Given the description of an element on the screen output the (x, y) to click on. 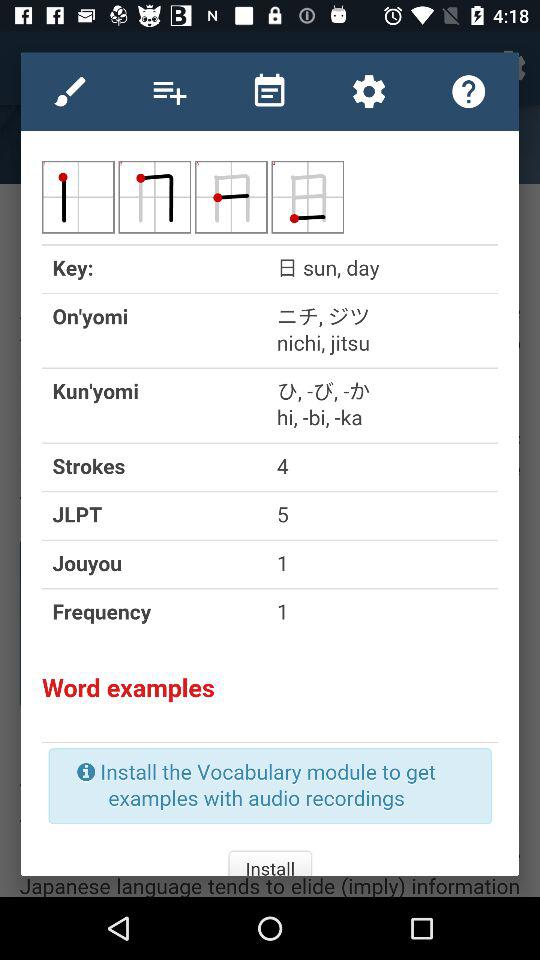
open schedule (269, 91)
